Given the description of an element on the screen output the (x, y) to click on. 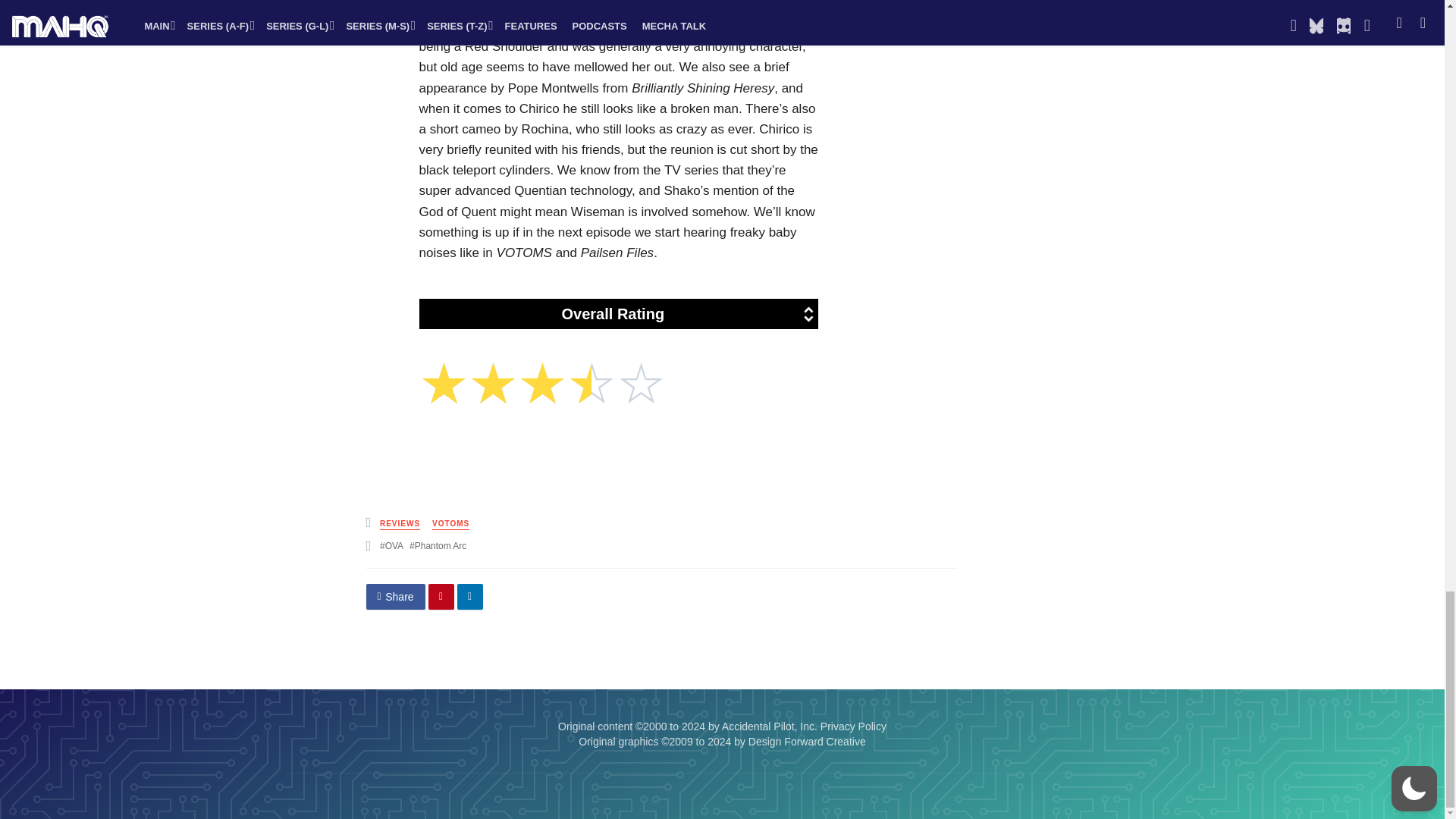
Share on Pinterest (441, 596)
Share on Linkedin (470, 596)
Share on Facebook (395, 596)
